Given the description of an element on the screen output the (x, y) to click on. 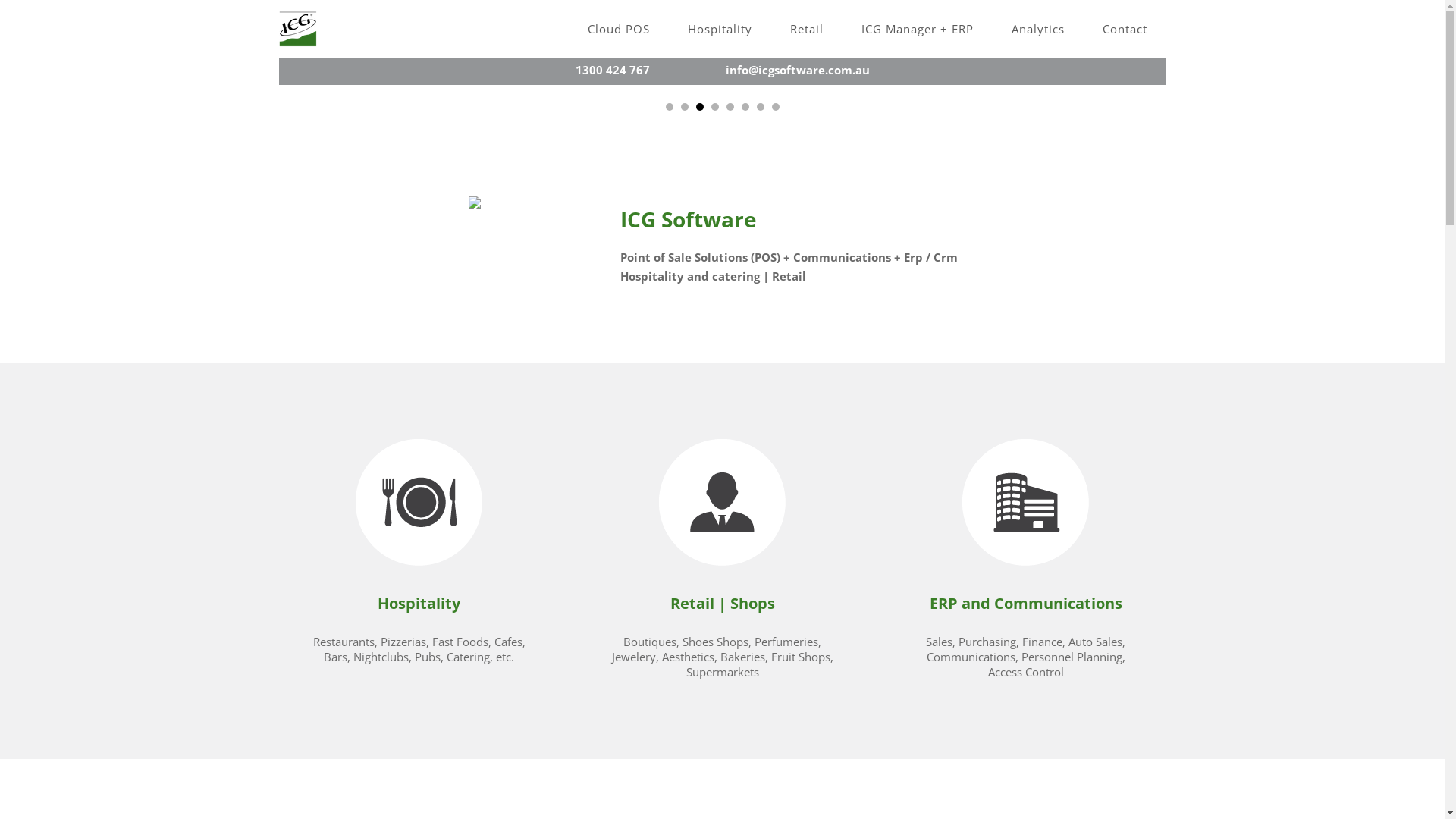
Retail Element type: text (805, 29)
1 Element type: text (669, 106)
3 Element type: text (699, 106)
Cloud POS Element type: text (618, 29)
info@icgsoftware.com.au Element type: text (796, 69)
4 Element type: text (714, 106)
6 Element type: text (745, 106)
1300 424 767 Element type: text (611, 69)
2 Element type: text (684, 106)
Contact Element type: text (1123, 29)
5 Element type: text (730, 106)
Hospitality Element type: text (719, 29)
ICG Manager + ERP Element type: text (916, 29)
ICG Software Element type: hover (297, 29)
8 Element type: text (775, 106)
7 Element type: text (760, 106)
Analytics Element type: text (1036, 29)
